Given the description of an element on the screen output the (x, y) to click on. 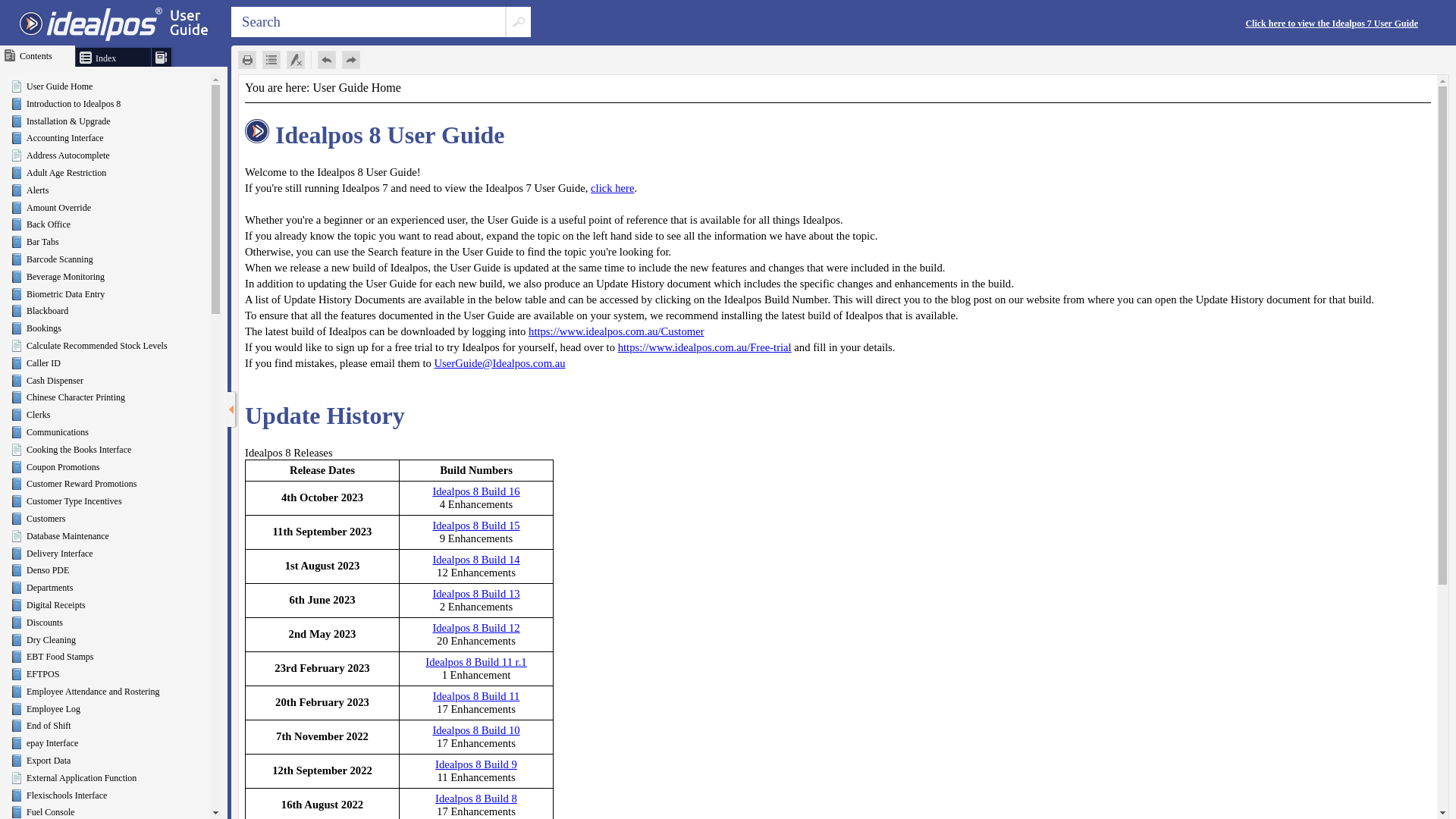
Customer Reward Promotions Element type: text (81, 483)
Introduction to Idealpos 8 Element type: text (73, 103)
Accounting Interface Element type: text (64, 137)
Cooking the Books Interface Element type: text (78, 449)
Coupon Promotions Element type: text (62, 466)
Dry Cleaning Element type: text (50, 638)
Remove Highlights Element type: hover (295, 59)
Beverage Monitoring Element type: text (65, 276)
Blackboard Element type: text (47, 310)
Denso PDE Element type: text (47, 569)
Contents Element type: hover (9, 55)
Biometric Data Entry Element type: text (65, 293)
Installation & Upgrade Element type: text (68, 121)
Cash Dispenser Element type: text (54, 380)
Expand all Element type: hover (271, 59)
Back Office Element type: text (48, 224)
Bookings Element type: text (43, 328)
Address Autocomplete Element type: text (67, 155)
End of Shift Element type: text (48, 725)
User Guide Home Element type: text (59, 86)
Navigate next Element type: hover (351, 59)
Digital Receipts Element type: text (55, 604)
Employee Log Element type: text (53, 708)
Discounts Element type: text (44, 622)
Customer Type Incentives Element type: text (74, 500)
Chinese Character Printing Element type: text (75, 397)
Employee Attendance and Rostering Element type: text (93, 691)
Flexischools Interface Element type: text (66, 795)
EBT Food Stamps Element type: text (59, 656)
Departments Element type: text (49, 587)
Print Element type: hover (247, 59)
Navigate previous Element type: hover (326, 59)
Adult Age Restriction Element type: text (66, 172)
Clerks Element type: text (38, 414)
Export Data Element type: text (48, 760)
Glossary Element type: hover (161, 57)
Click here to view the Idealpos 7 User Guide Element type: text (1331, 23)
Calculate Recommended Stock Levels Element type: text (96, 345)
Caller ID Element type: text (43, 362)
Fuel Console Element type: text (50, 811)
Communications Element type: text (57, 431)
Alerts Element type: text (37, 190)
EFTPOS Element type: text (42, 673)
Search Element type: hover (518, 21)
epay Interface Element type: text (52, 742)
Database Maintenance Element type: text (67, 535)
Delivery Interface Element type: text (59, 553)
Amount Override Element type: text (58, 207)
Customers Element type: text (45, 518)
Bar Tabs Element type: text (42, 241)
Barcode Scanning Element type: text (59, 259)
Index Element type: hover (85, 57)
External Application Function Element type: text (81, 777)
